Given the description of an element on the screen output the (x, y) to click on. 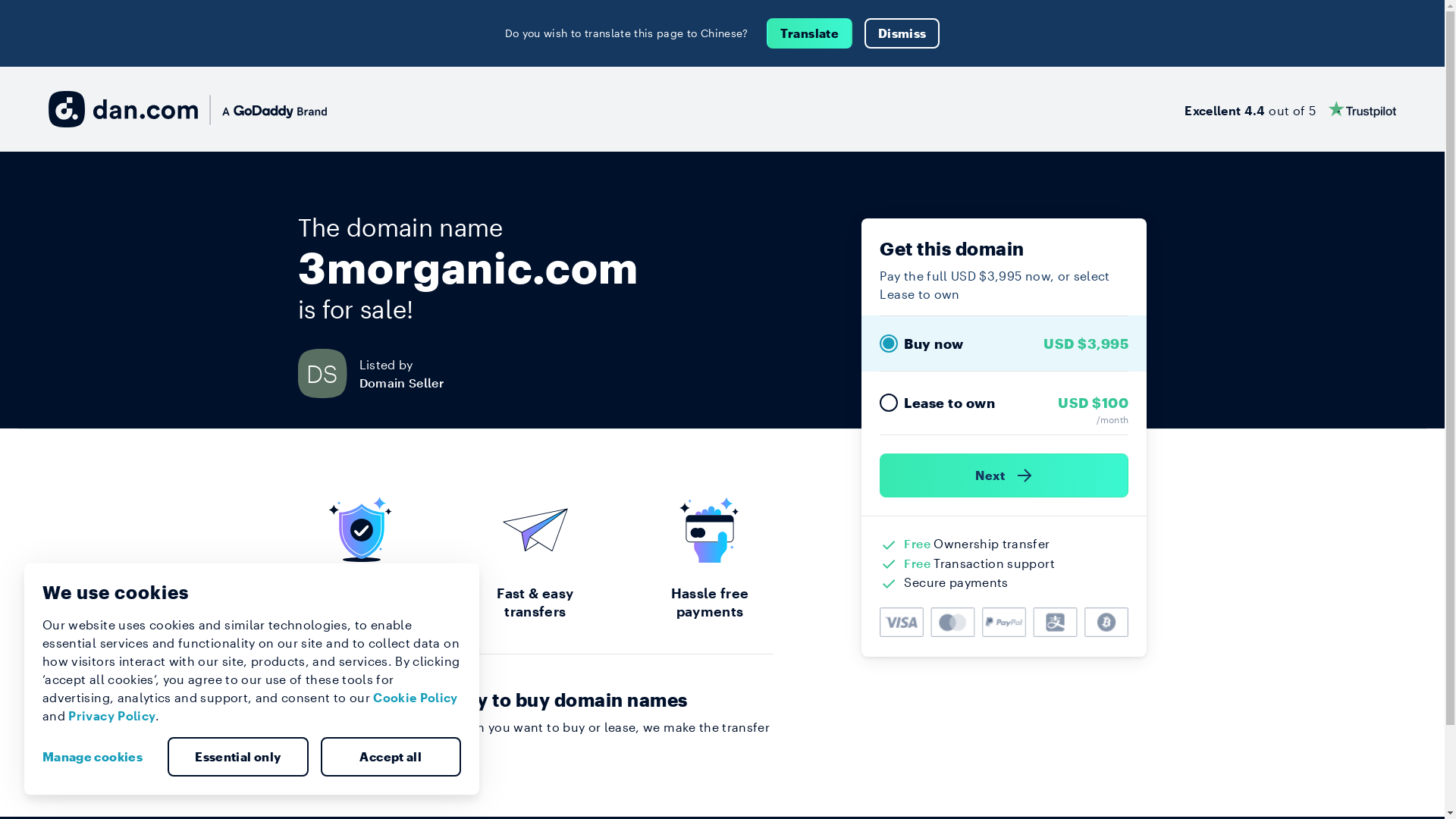
Privacy Policy Element type: text (111, 715)
Accept all Element type: text (390, 756)
Dismiss Element type: text (901, 33)
Essential only Element type: text (237, 756)
Excellent 4.4 out of 5 Element type: text (1290, 109)
Translate Element type: text (809, 33)
Manage cookies Element type: text (98, 756)
Cookie Policy Element type: text (415, 697)
Next
) Element type: text (1003, 475)
